Given the description of an element on the screen output the (x, y) to click on. 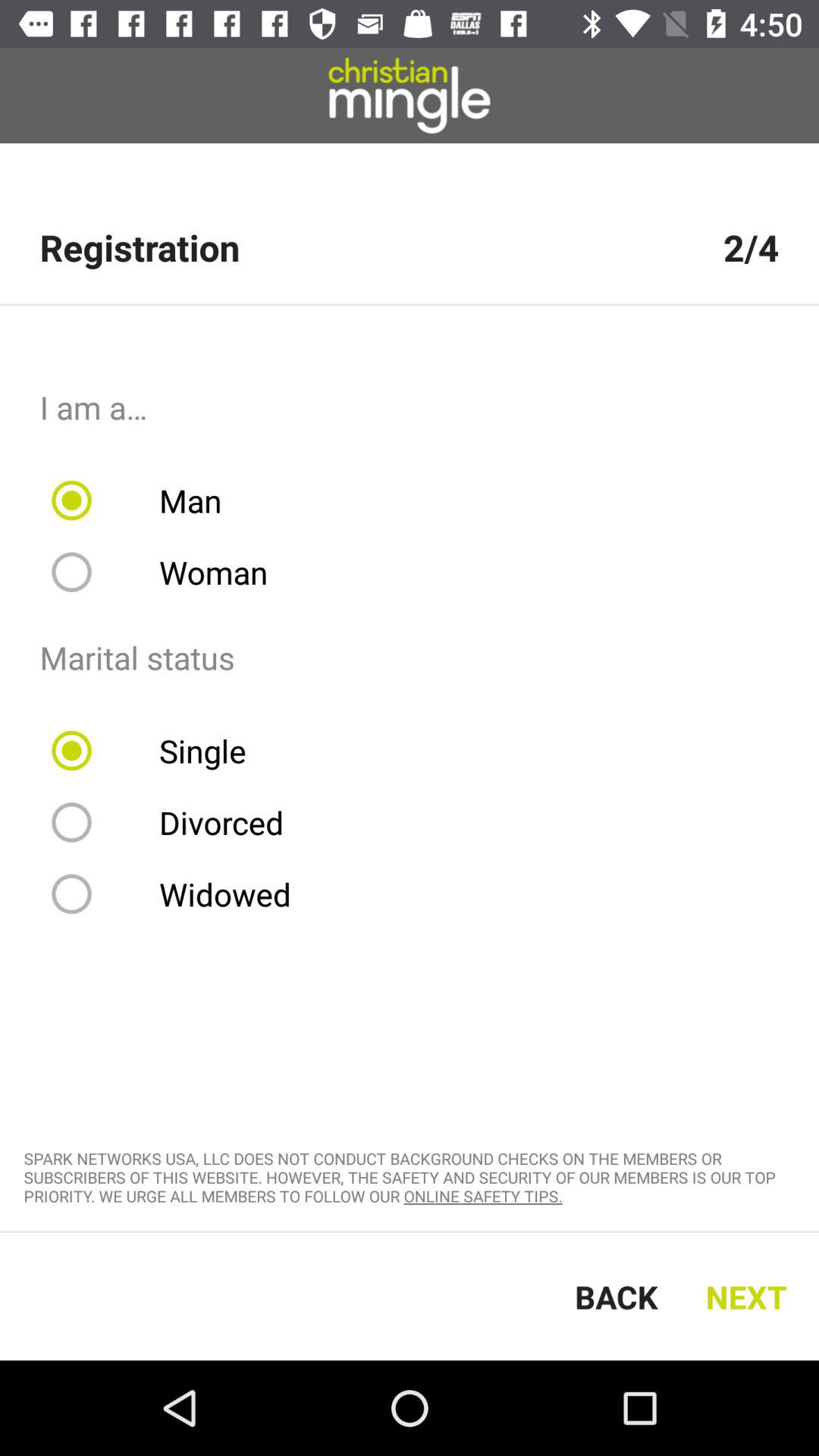
swipe until woman item (169, 572)
